Given the description of an element on the screen output the (x, y) to click on. 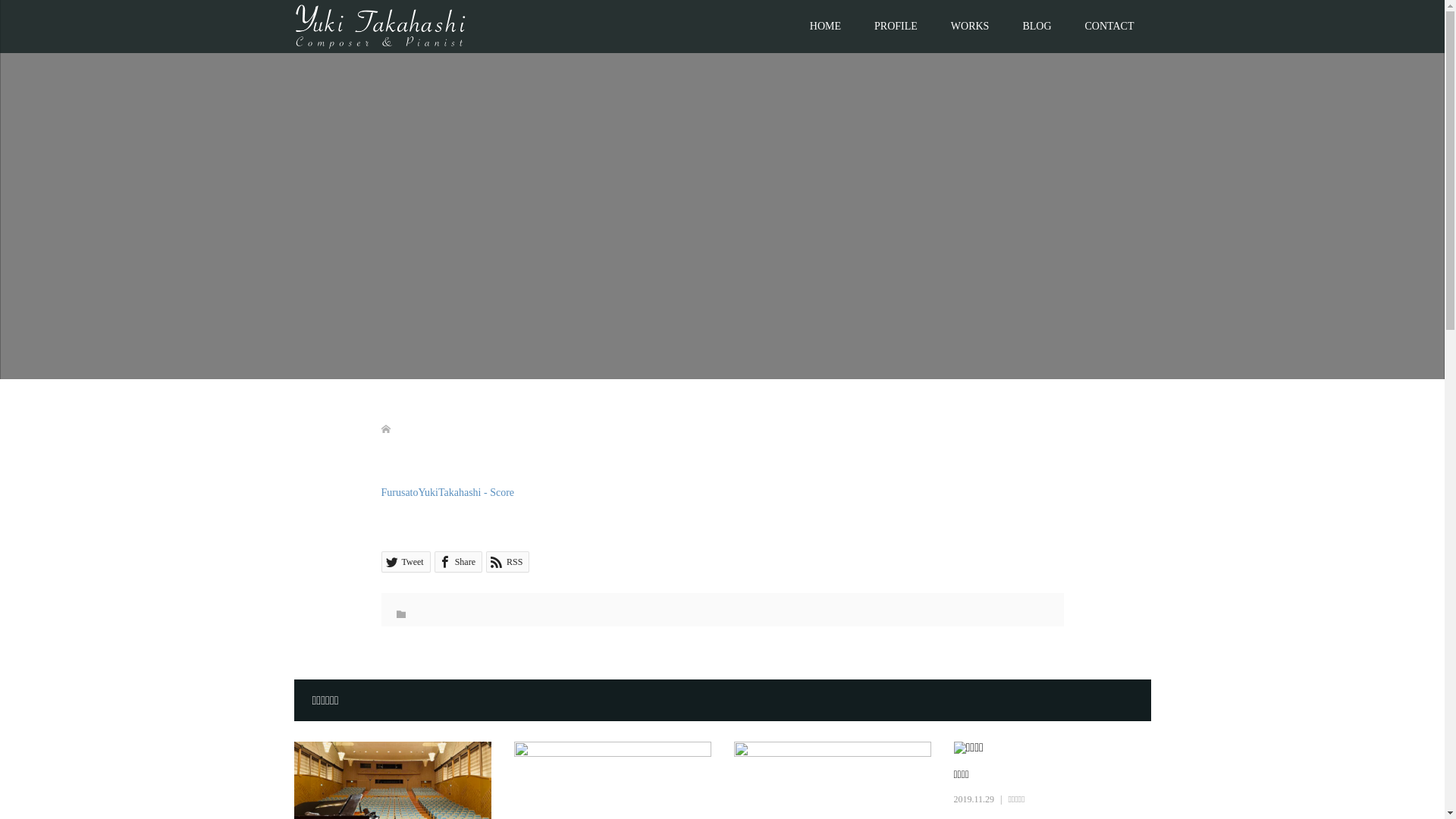
HOME Element type: text (825, 26)
BLOG Element type: text (1036, 26)
CONTACT Element type: text (1108, 26)
WORKS Element type: text (970, 26)
Tweet Element type: text (404, 561)
RSS Element type: text (507, 561)
PROFILE Element type: text (895, 26)
Share Element type: text (458, 561)
FurusatoYukiTakahashi - Score Element type: text (447, 492)
